Given the description of an element on the screen output the (x, y) to click on. 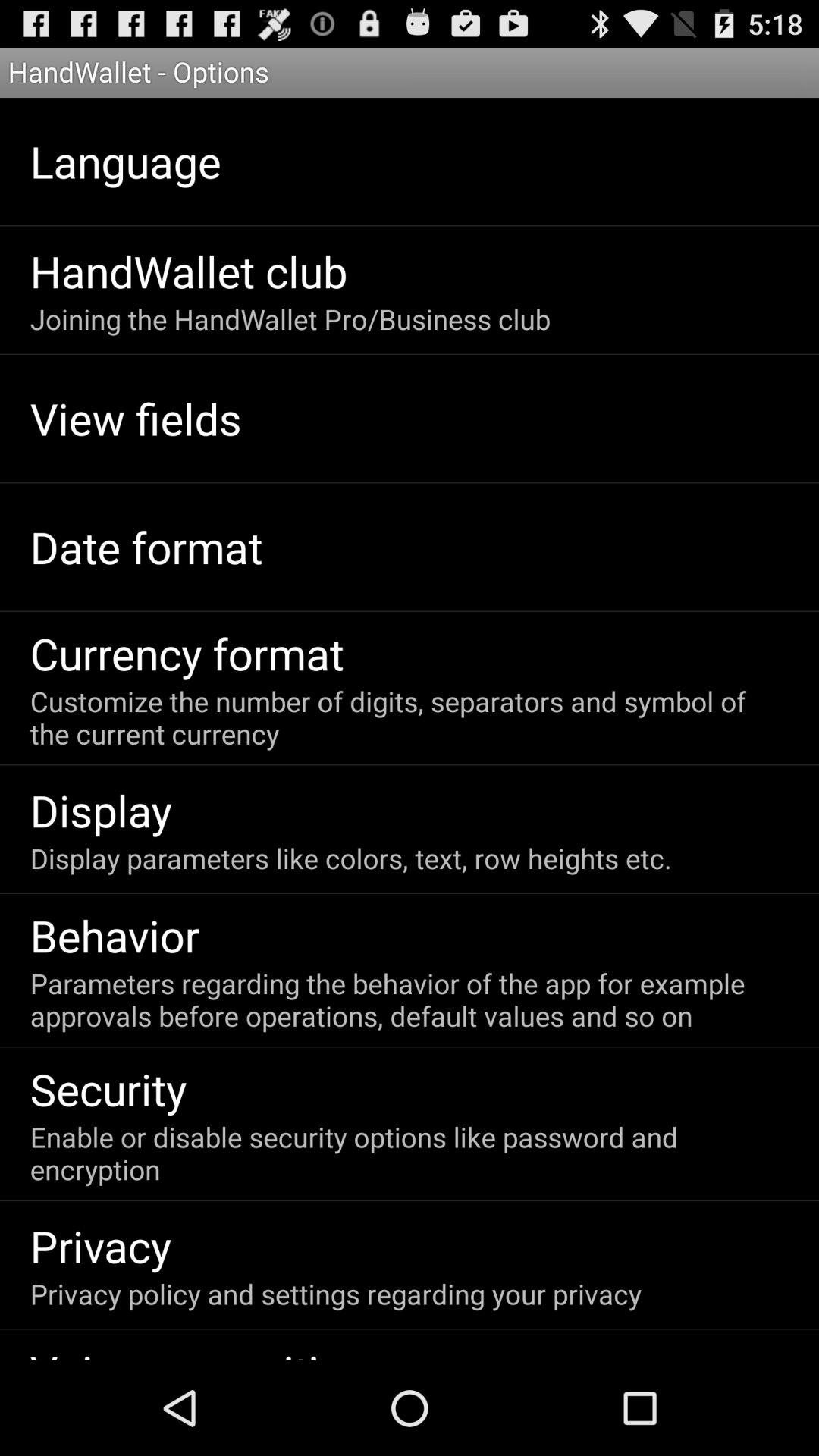
click the currency format (187, 652)
